Given the description of an element on the screen output the (x, y) to click on. 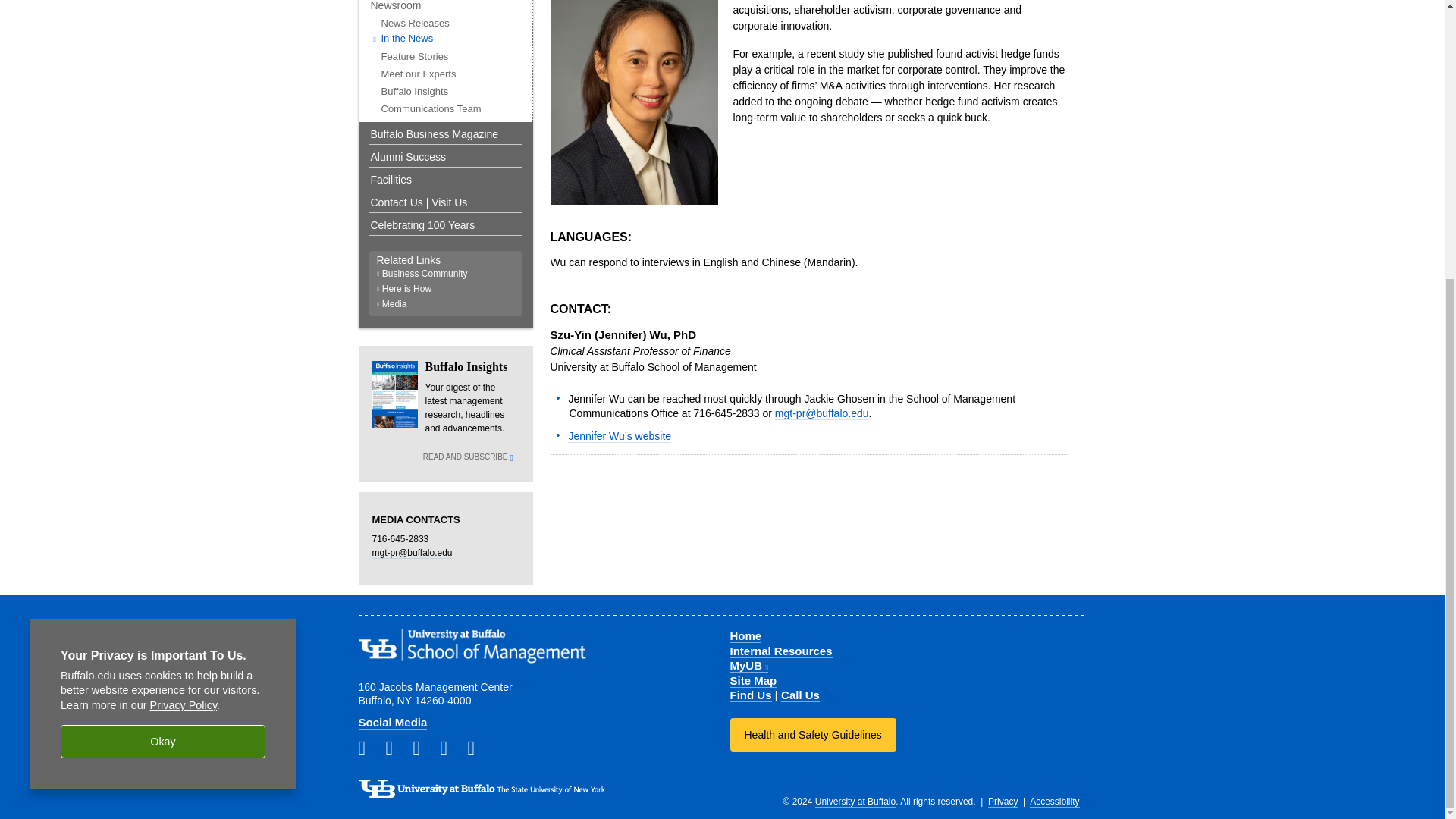
School Twitter directory (422, 747)
School YouTube directory (476, 747)
School Facebook directory (449, 747)
This link opens a page in a new window or tab. (748, 665)
School LinkedIn directory (367, 747)
School Instagram directory (394, 747)
